Given the description of an element on the screen output the (x, y) to click on. 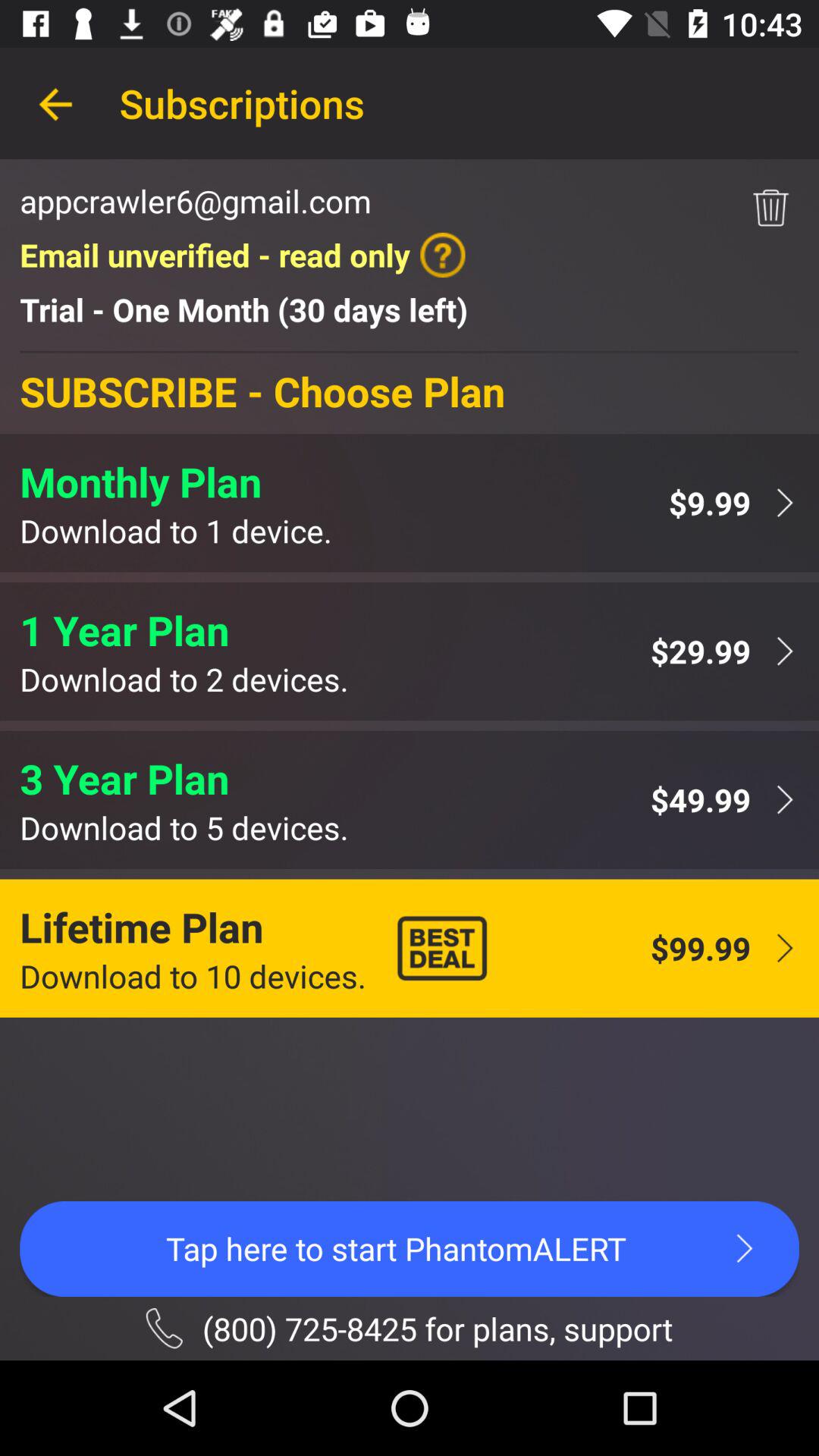
select the item next to the email unverified read app (770, 207)
